Given the description of an element on the screen output the (x, y) to click on. 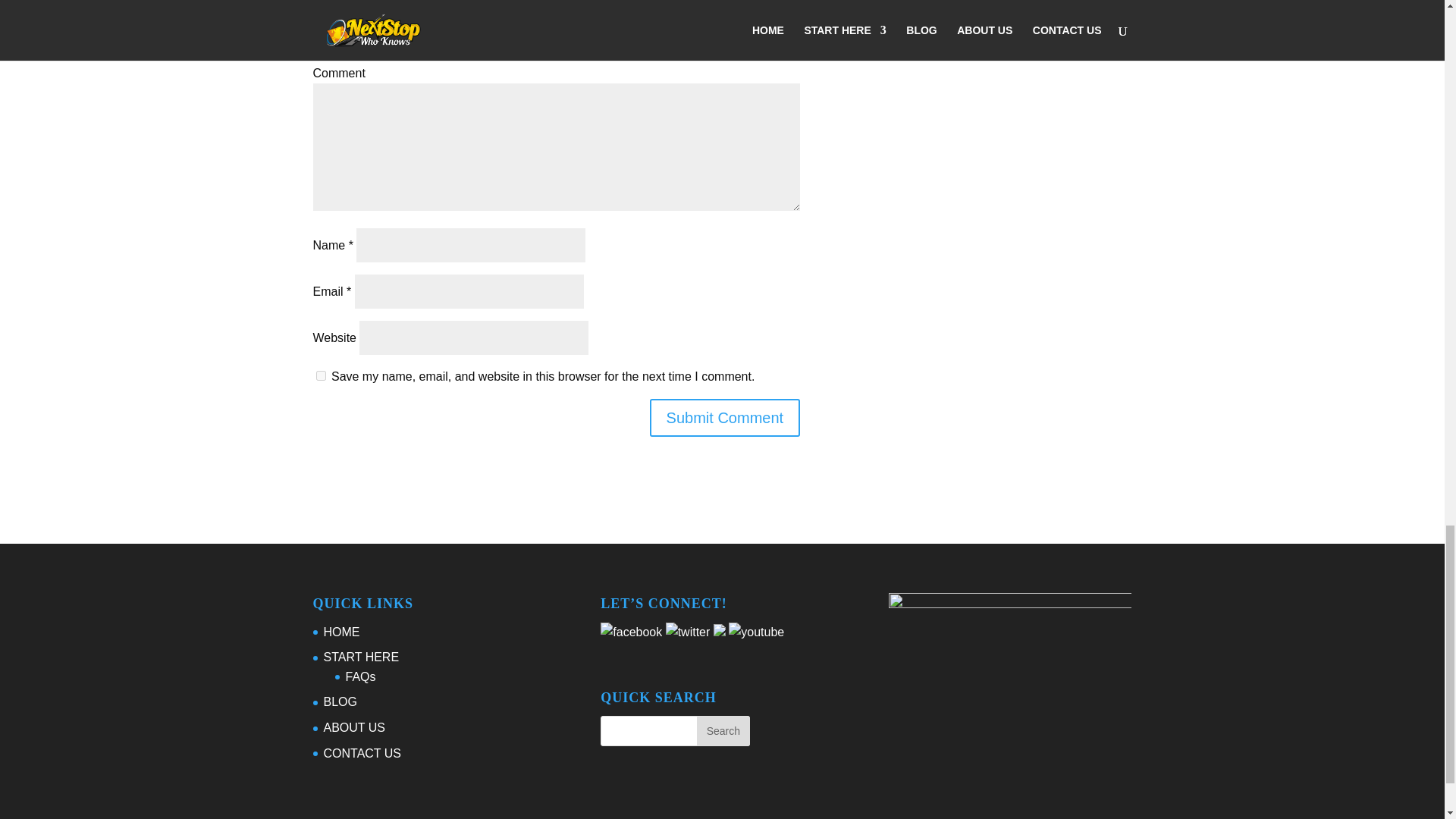
CONTACT US (362, 753)
Submit Comment (724, 417)
Submit Comment (724, 417)
yes (319, 375)
HOME (341, 631)
BLOG (339, 701)
Search (723, 730)
START HERE (360, 656)
ABOUT US (354, 727)
Search (723, 730)
